Given the description of an element on the screen output the (x, y) to click on. 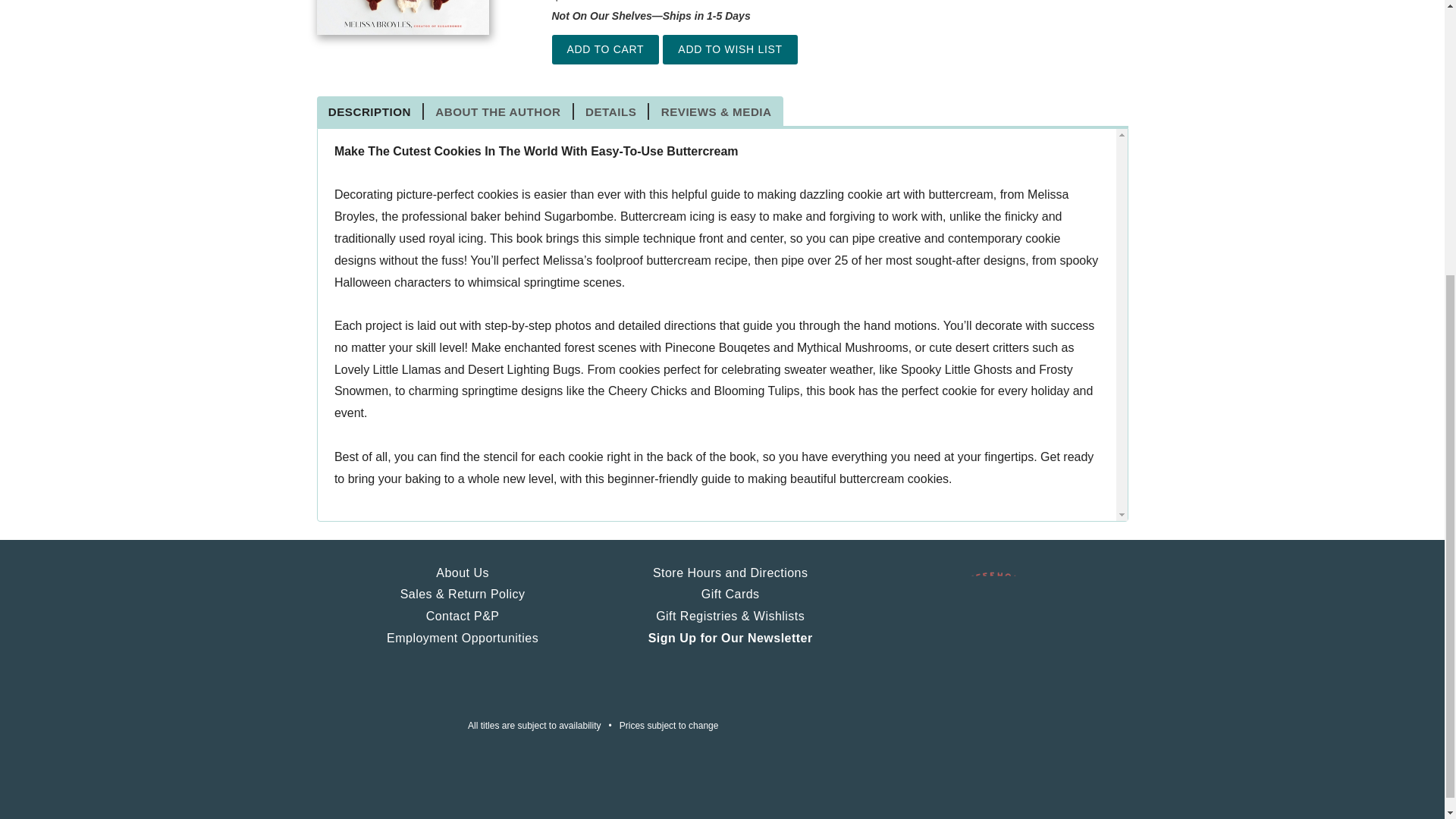
Add to Wish List (729, 49)
Add to Cart (605, 49)
